Given the description of an element on the screen output the (x, y) to click on. 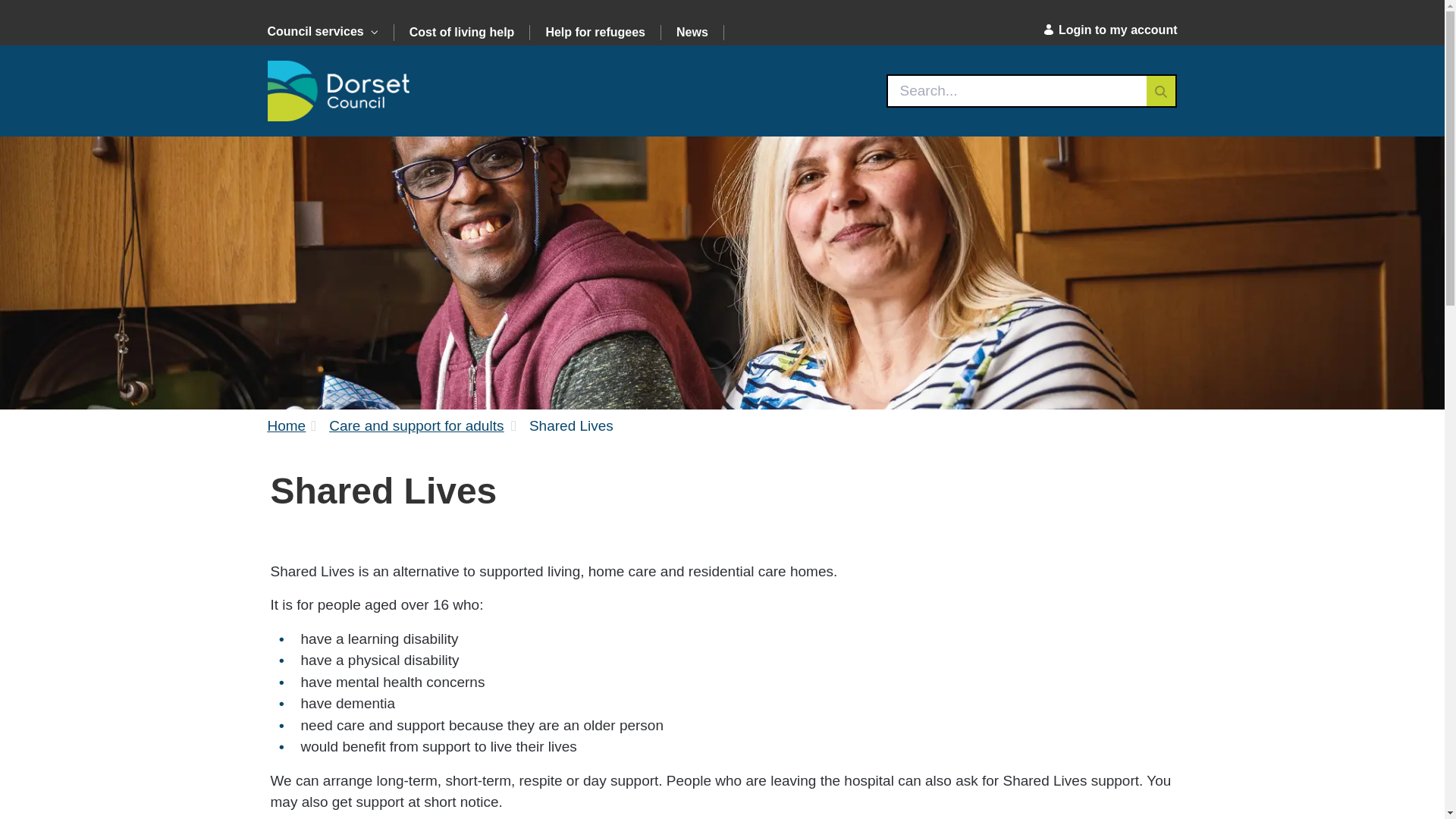
Login to my account (1107, 30)
Cost of living help (462, 31)
Care and support for adults (416, 426)
Search (1016, 91)
News (692, 31)
Home (285, 426)
Council services (329, 32)
Skip to Content (6, 6)
Help for refugees (595, 31)
Go to Dorset Council (337, 90)
